Given the description of an element on the screen output the (x, y) to click on. 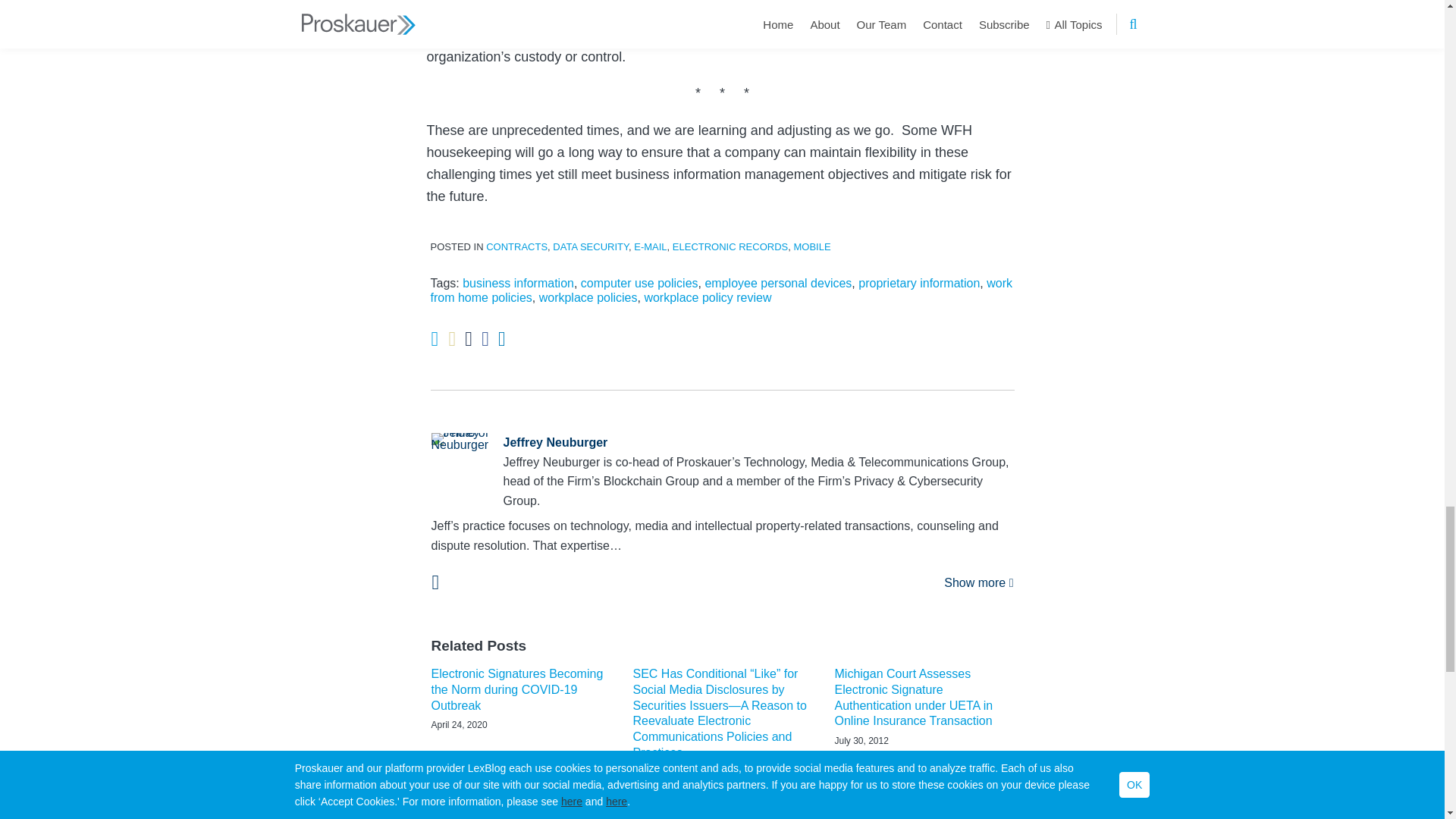
E-MAIL (649, 246)
DATA SECURITY (590, 246)
employee personal devices (777, 282)
Jeffrey Neuburger (721, 442)
Show more (978, 582)
workplace policies (587, 297)
ELECTRONIC RECORDS (729, 246)
computer use policies (639, 282)
business information (518, 282)
MOBILE (811, 246)
proprietary information (919, 282)
CONTRACTS (516, 246)
workplace policy review (707, 297)
work from home policies (721, 289)
